Given the description of an element on the screen output the (x, y) to click on. 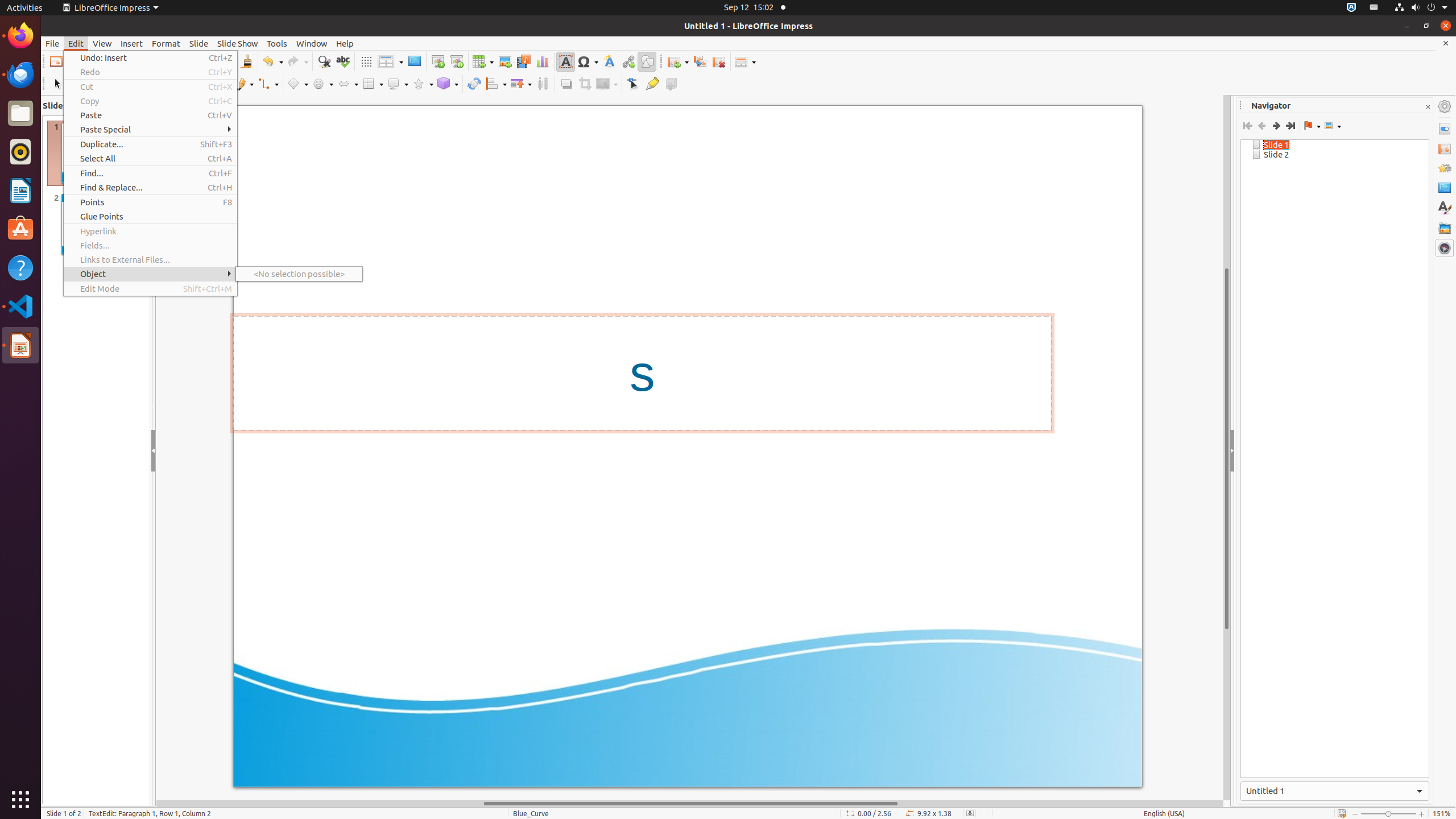
Copy Element type: menu-item (150, 100)
Points Element type: check-menu-item (150, 202)
Master Slides Element type: radio-button (1444, 188)
Rhythmbox Element type: push-button (20, 151)
Glue Points Element type: check-menu-item (150, 216)
